Given the description of an element on the screen output the (x, y) to click on. 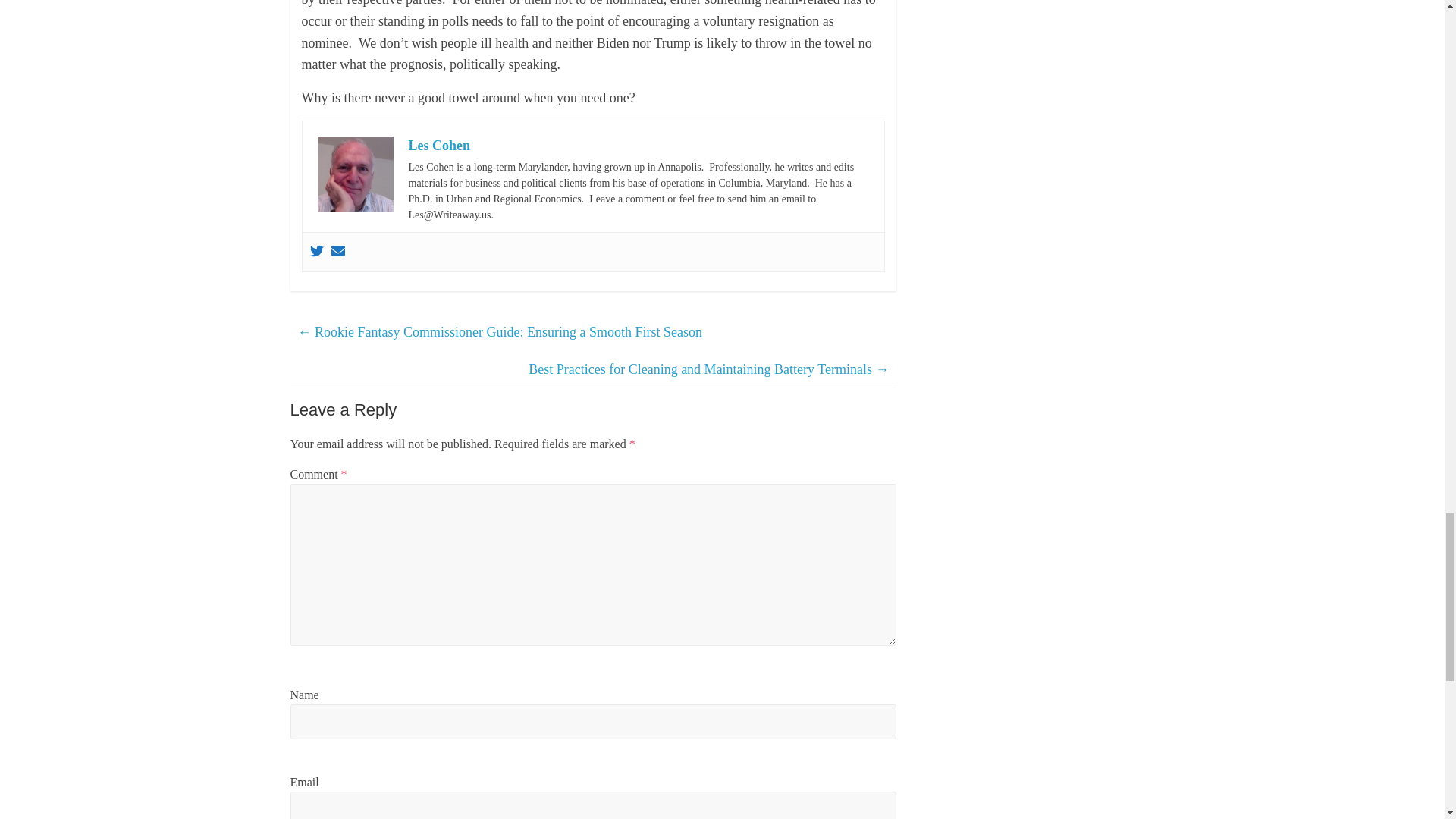
Les Cohen (438, 145)
